Given the description of an element on the screen output the (x, y) to click on. 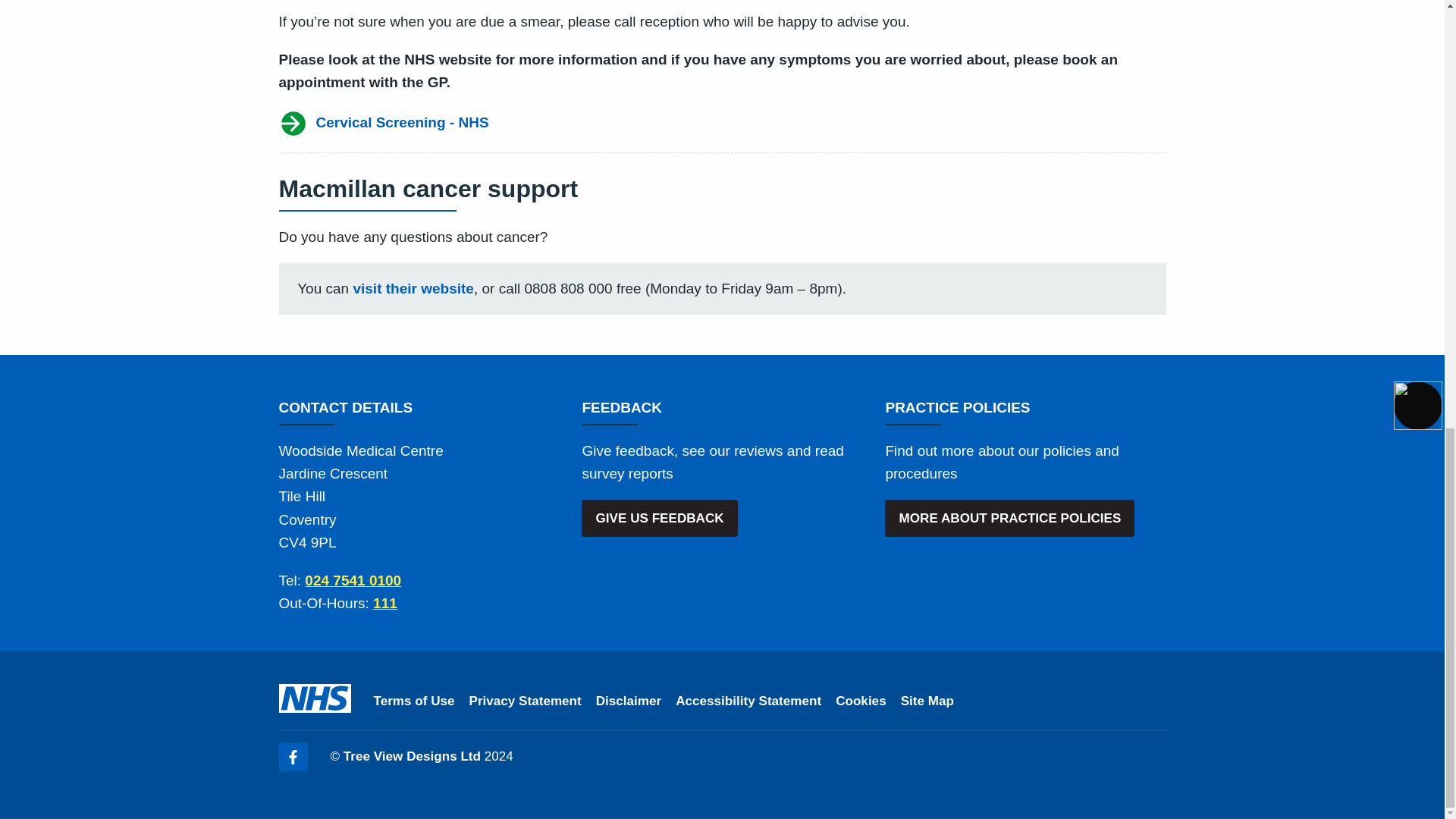
MORE ABOUT PRACTICE POLICIES (1009, 517)
GIVE US FEEDBACK (658, 517)
The NHS Logo (314, 697)
Site Map (927, 701)
024 7541 0100 (352, 580)
 Cervical Screening - NHS (722, 123)
Cookies (860, 701)
Privacy Statement (524, 701)
Accessibility Statement (748, 701)
Terms of Use (413, 701)
visit their website (412, 288)
111 (384, 602)
Disclaimer (628, 701)
